Given the description of an element on the screen output the (x, y) to click on. 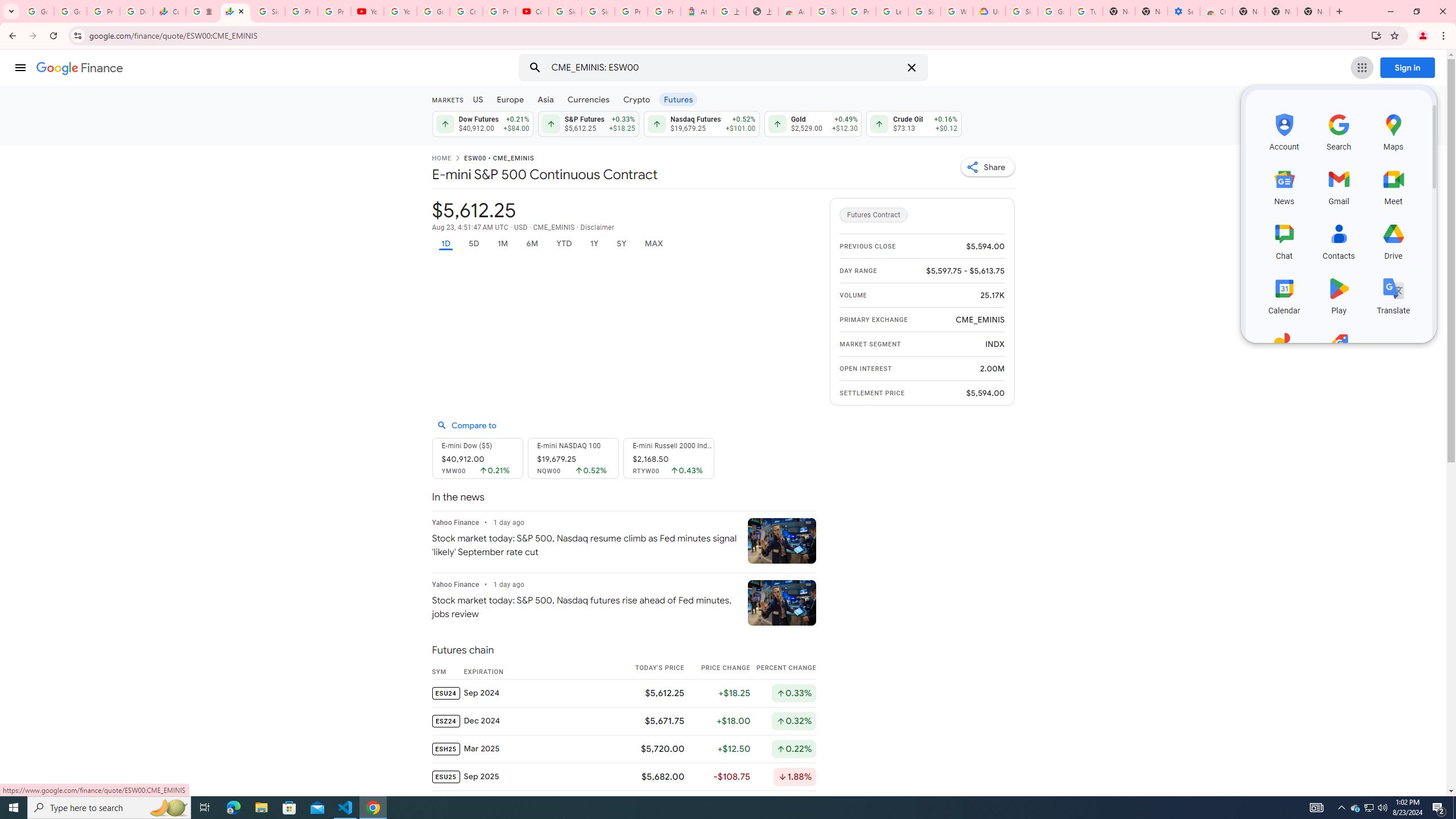
Settings - Accessibility (1183, 11)
Sign in - Google Accounts (268, 11)
1Y (594, 243)
New Tab (1313, 11)
Asia (545, 99)
Create your Google Account (465, 11)
Sign in - Google Accounts (598, 11)
S&P Futures $5,612.25 Up by 0.33% +$18.25 (588, 123)
